Given the description of an element on the screen output the (x, y) to click on. 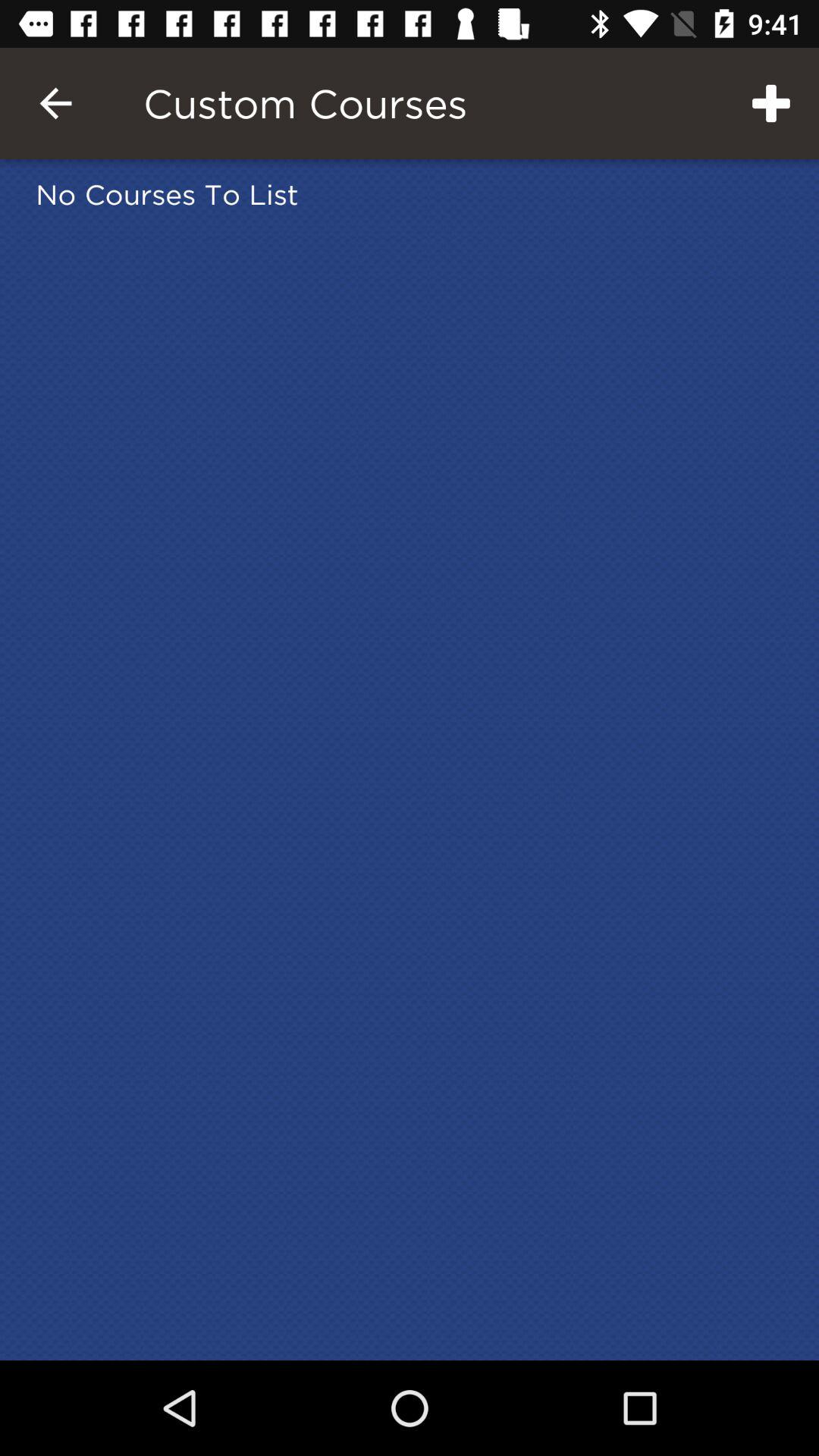
choose item to the left of the custom courses item (55, 103)
